Given the description of an element on the screen output the (x, y) to click on. 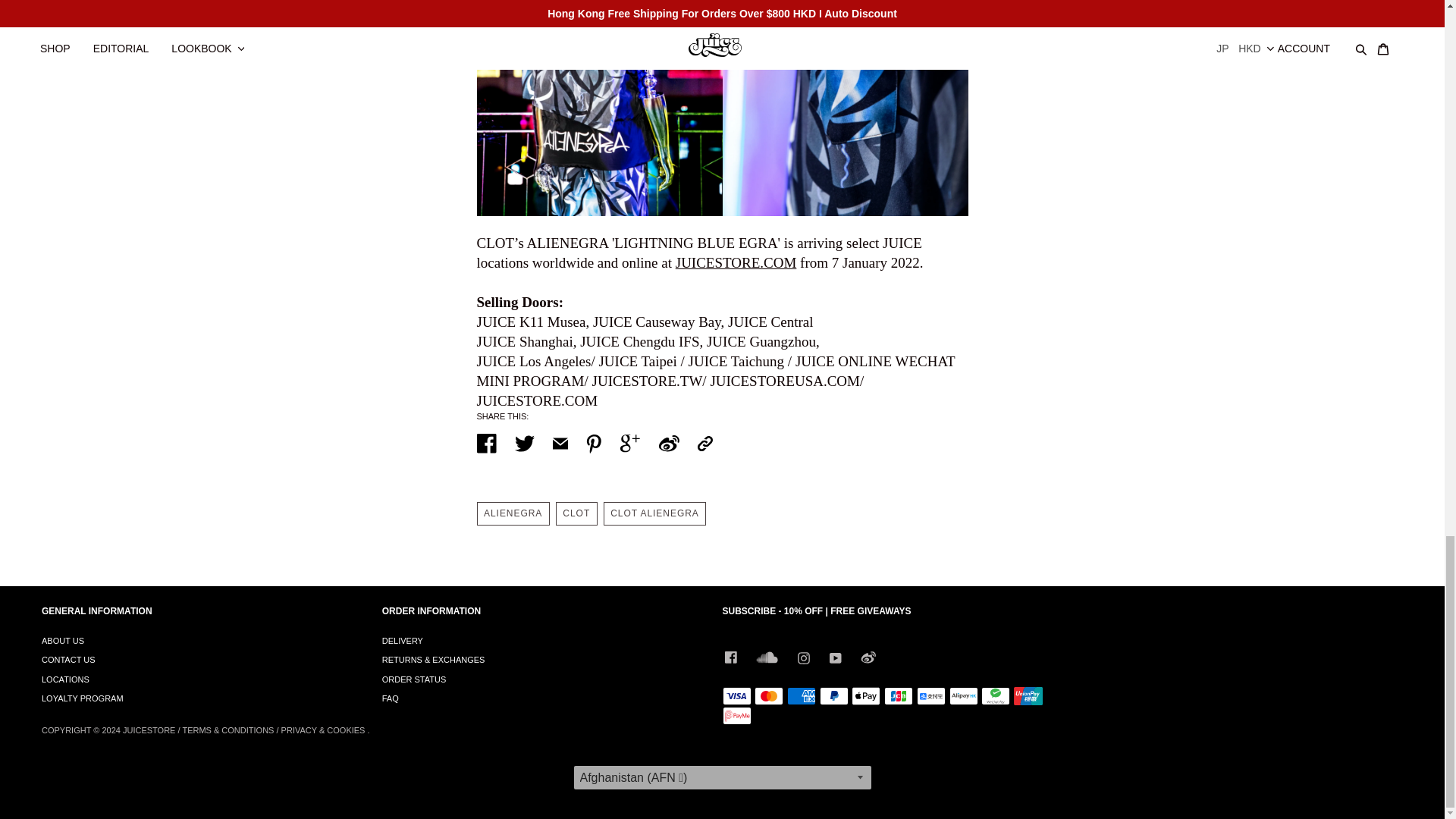
CLOT at JUICE STORE (735, 262)
